Given the description of an element on the screen output the (x, y) to click on. 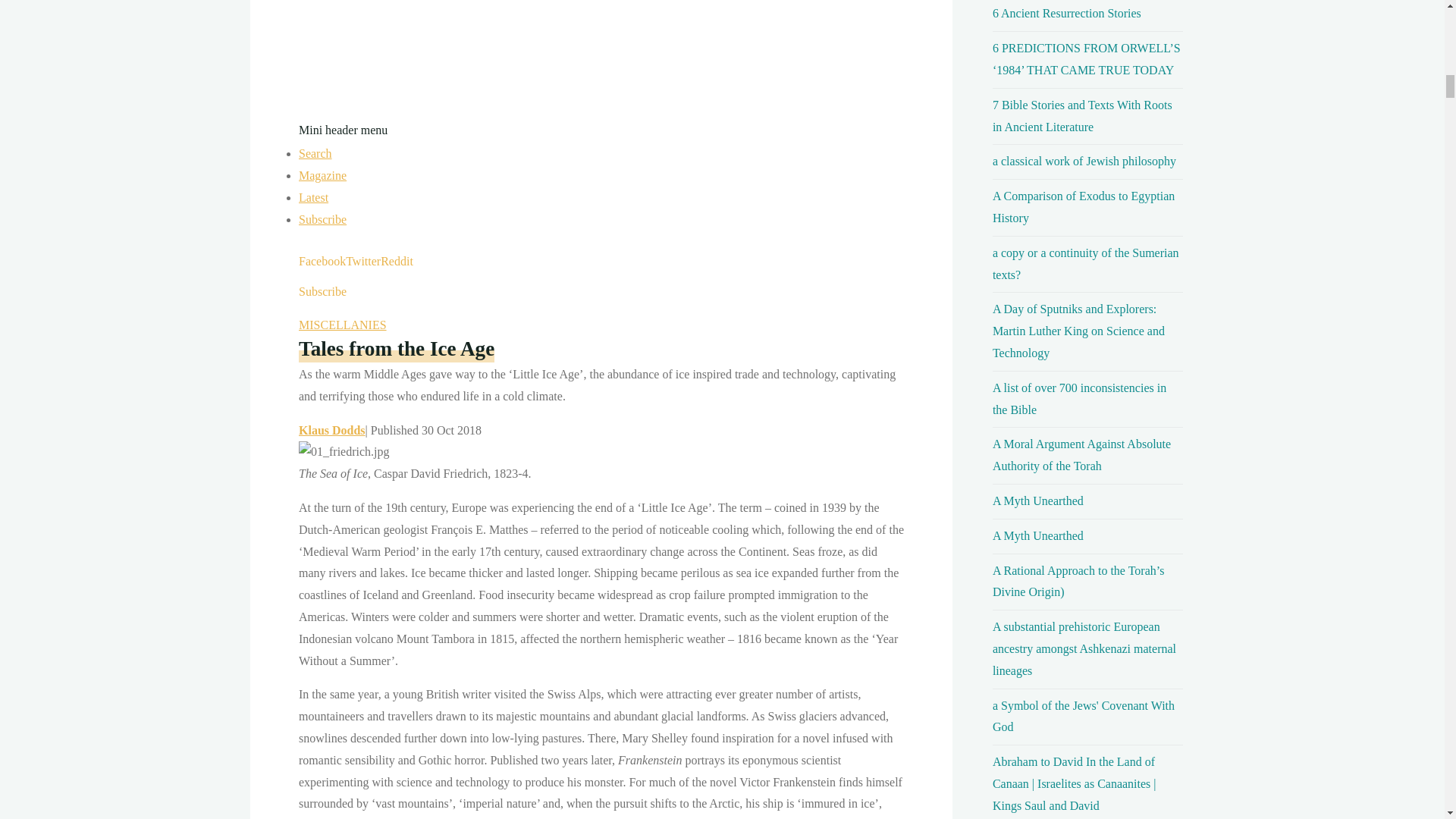
Magazine (322, 174)
Subscribe (322, 219)
Twitter (363, 259)
Latest (313, 196)
MISCELLANIES (342, 324)
Facebook (322, 259)
Subscribe (322, 291)
Search (314, 153)
Reddit (396, 259)
